Given the description of an element on the screen output the (x, y) to click on. 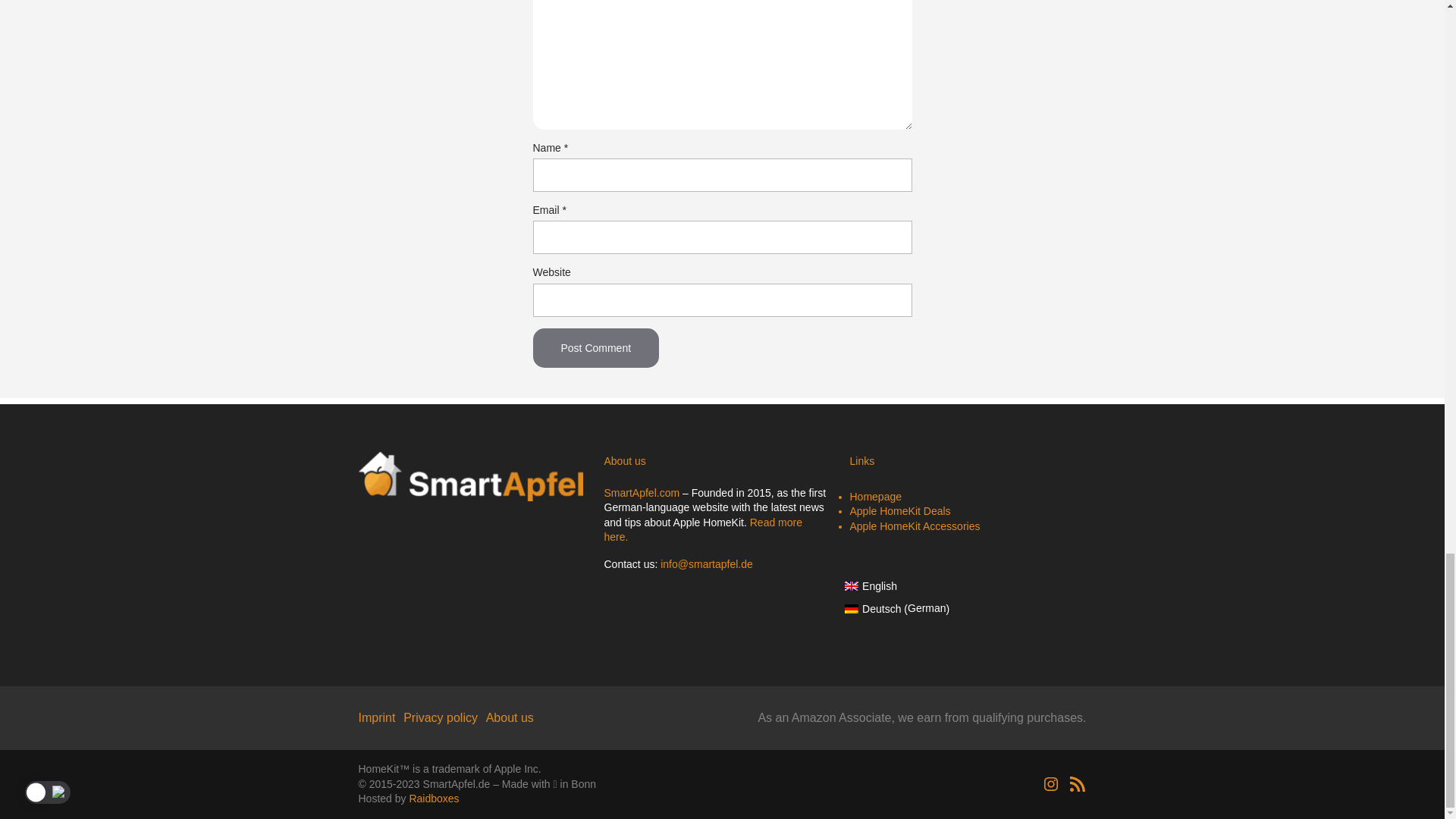
Apple HomeKit Accessories (913, 526)
Apple HomeKit Deals (899, 510)
English (897, 579)
Read more here. (703, 529)
About us (510, 718)
Instagram (1050, 783)
Raidboxes (433, 798)
Homepage (874, 496)
RSS Feed (1076, 783)
Imprint (376, 718)
